Given the description of an element on the screen output the (x, y) to click on. 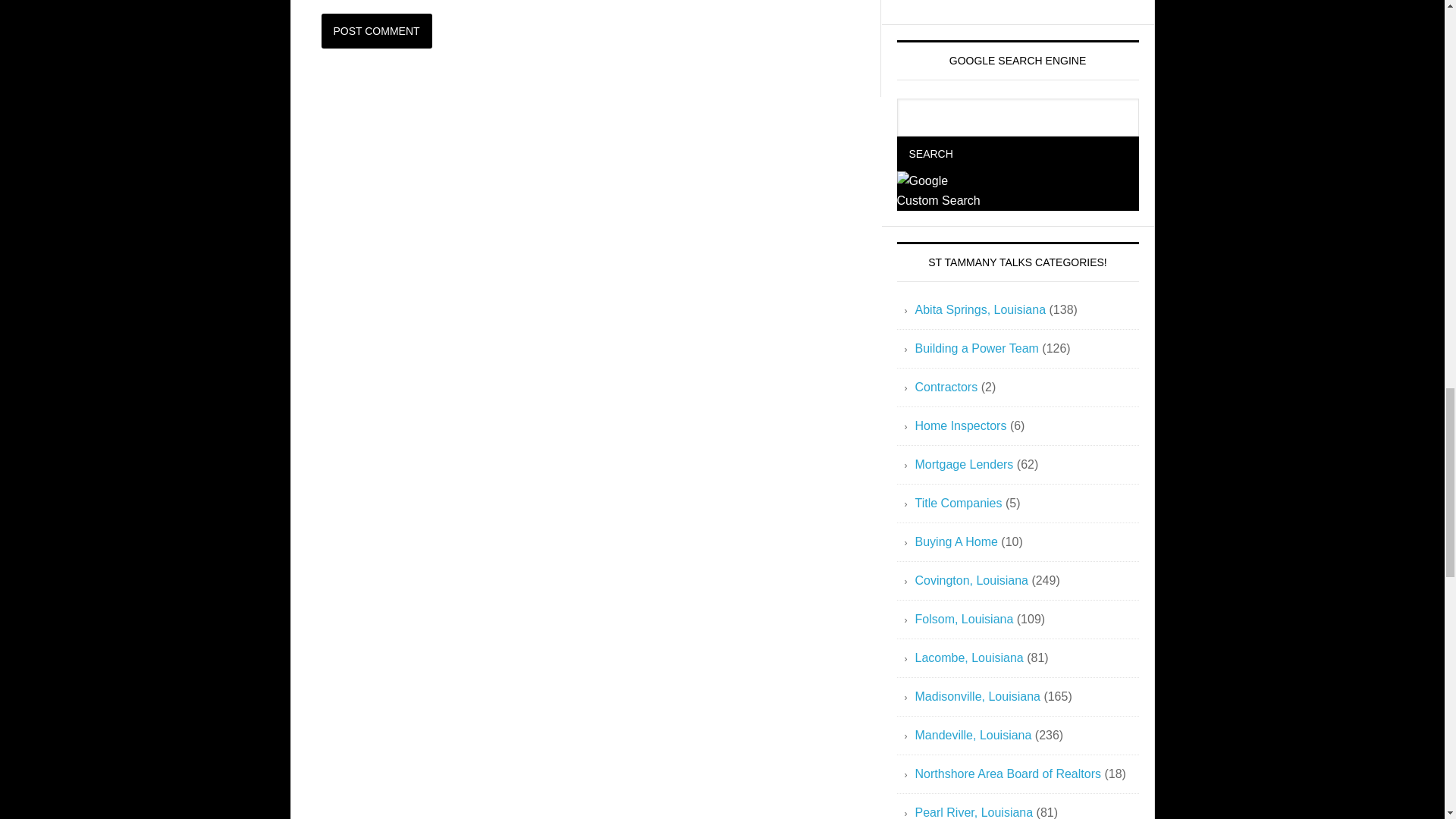
Building a Power Team (976, 348)
Buying A Home (955, 541)
Search (929, 153)
Post Comment (376, 30)
Mortgage Lenders (963, 463)
Folsom, Louisiana (963, 618)
Abita Springs, Louisiana (979, 309)
Home Inspectors (960, 425)
Madisonville, Louisiana (976, 696)
Contractors (945, 386)
